Given the description of an element on the screen output the (x, y) to click on. 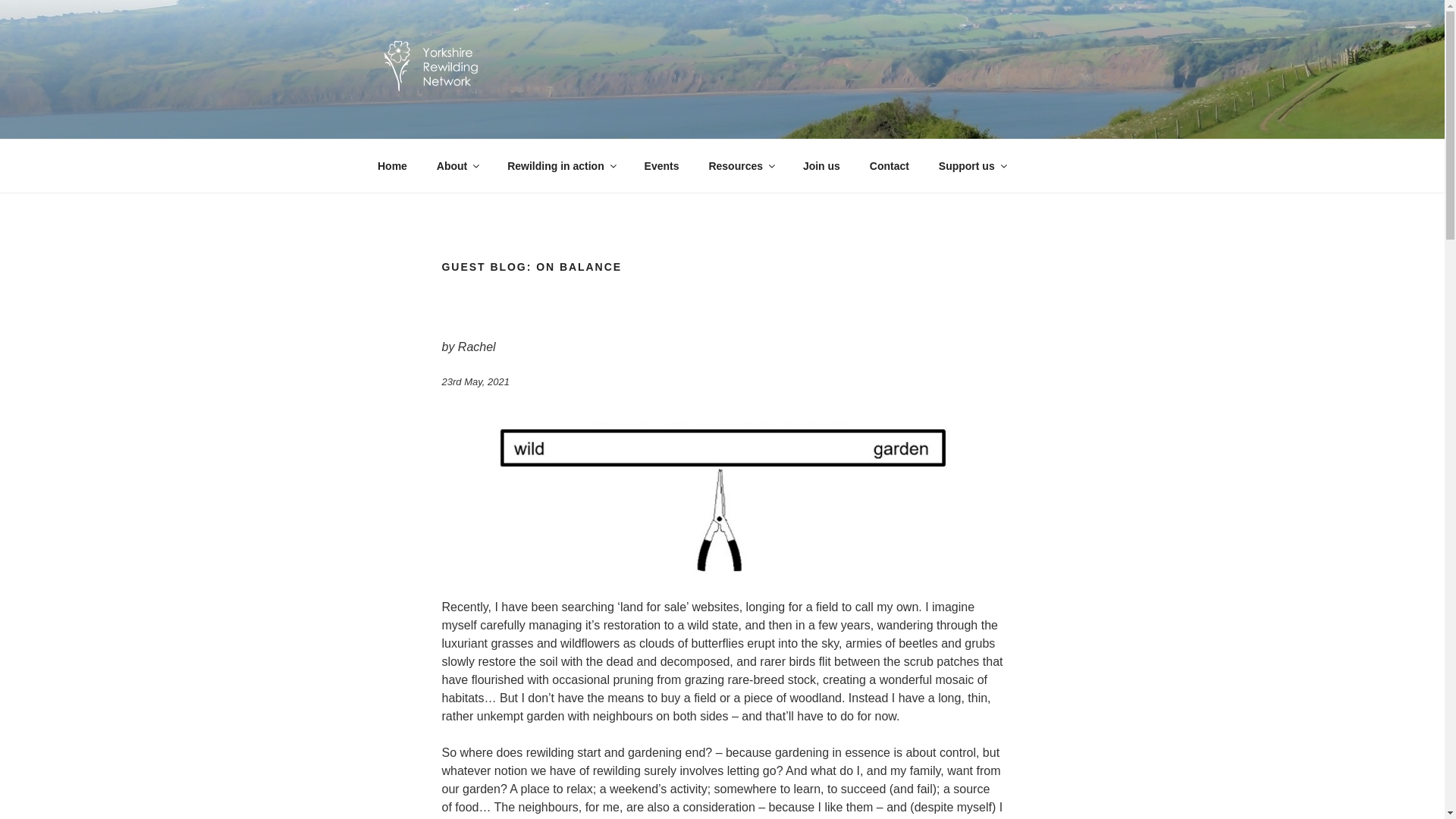
About (456, 165)
Support us (970, 165)
Join us (821, 165)
Rewilding in action (561, 165)
YORKSHIRE REWILDING NETWORK (654, 119)
Resources (741, 165)
Contact (888, 165)
Home (392, 165)
Events (661, 165)
